Given the description of an element on the screen output the (x, y) to click on. 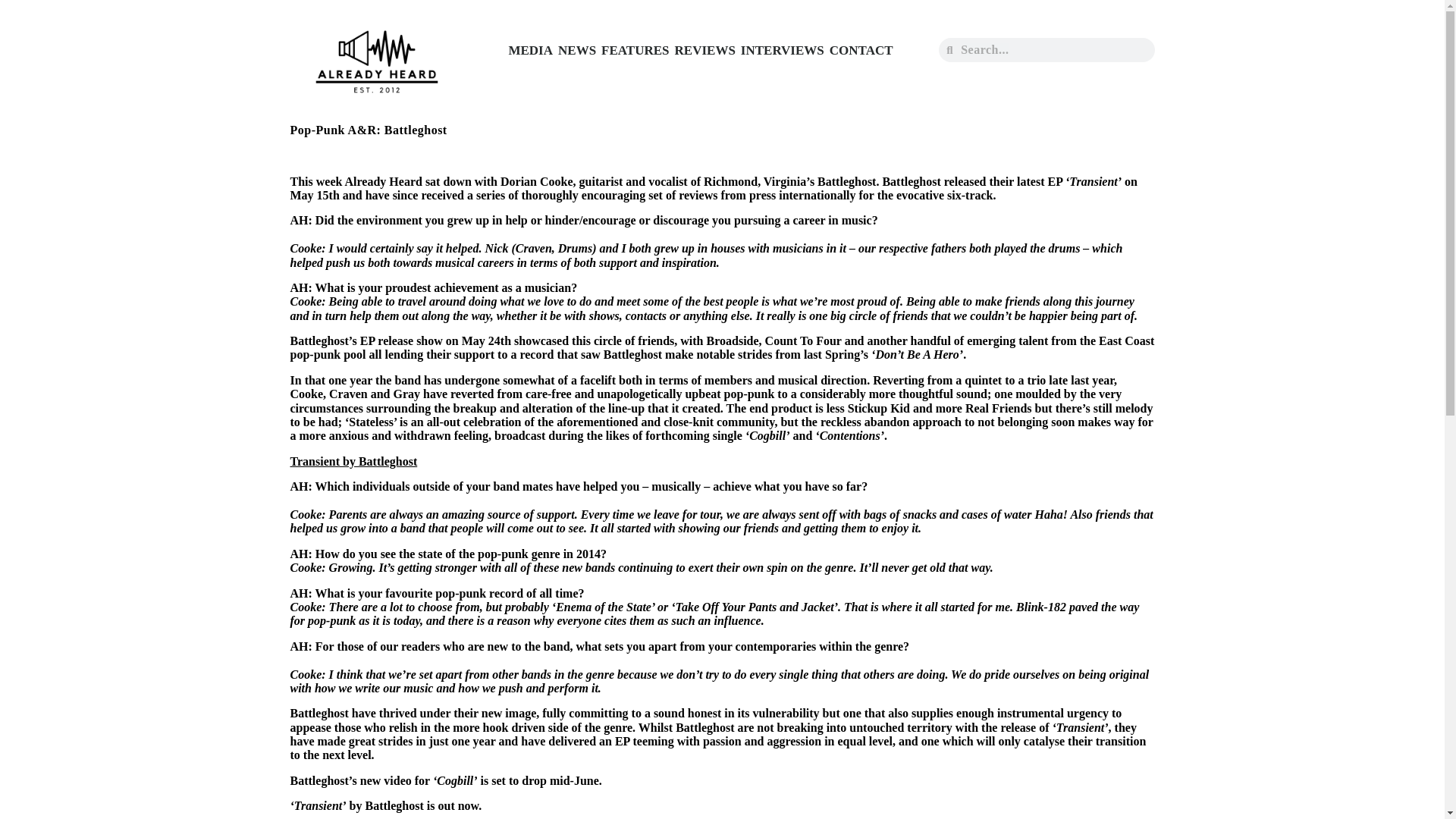
MEDIA (529, 50)
FEATURES (634, 50)
NEWS (577, 50)
